Given the description of an element on the screen output the (x, y) to click on. 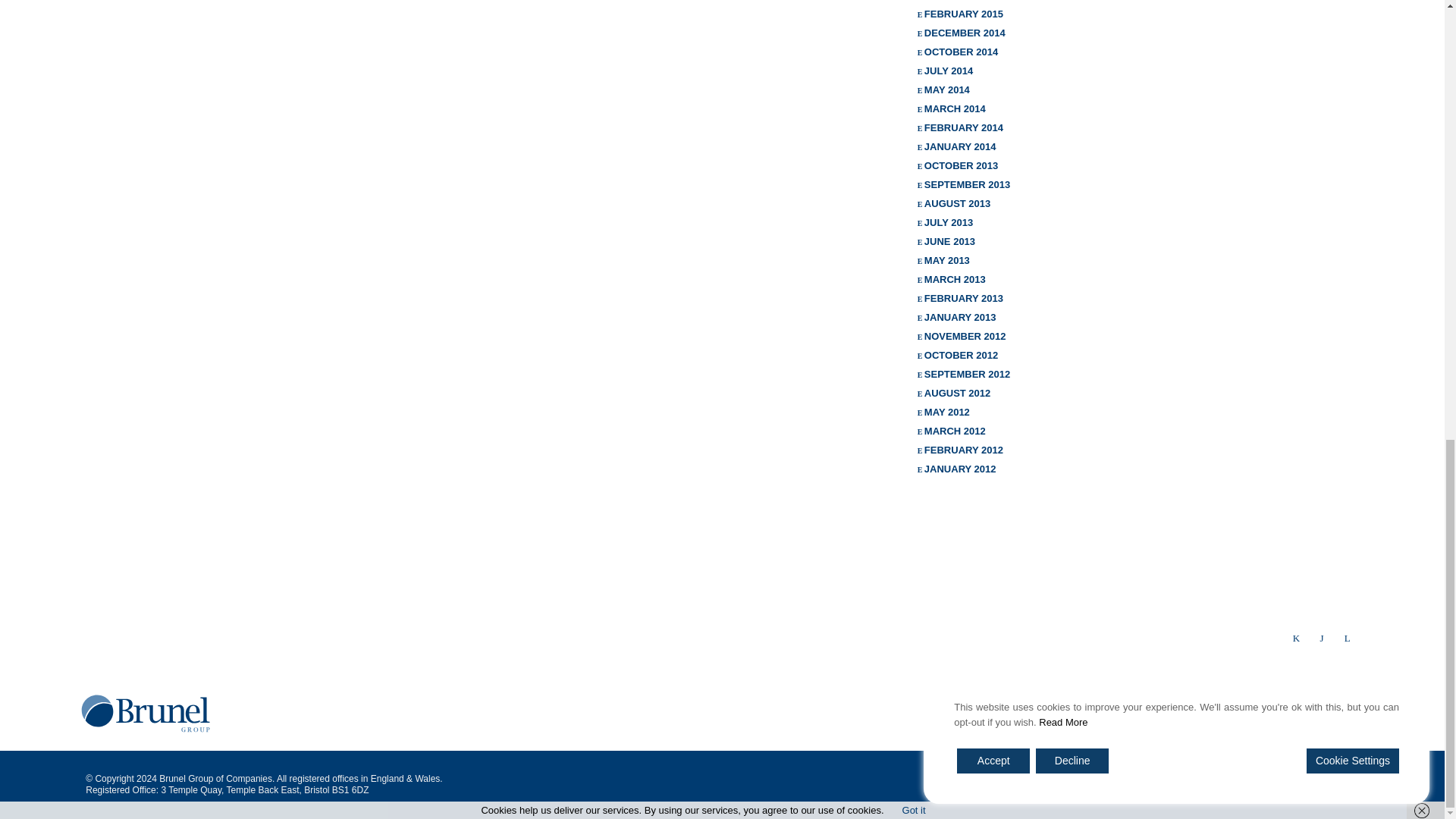
View our Linked In page (1323, 637)
View our Twitter profile (1295, 637)
View our Facebook page (1347, 637)
